Given the description of an element on the screen output the (x, y) to click on. 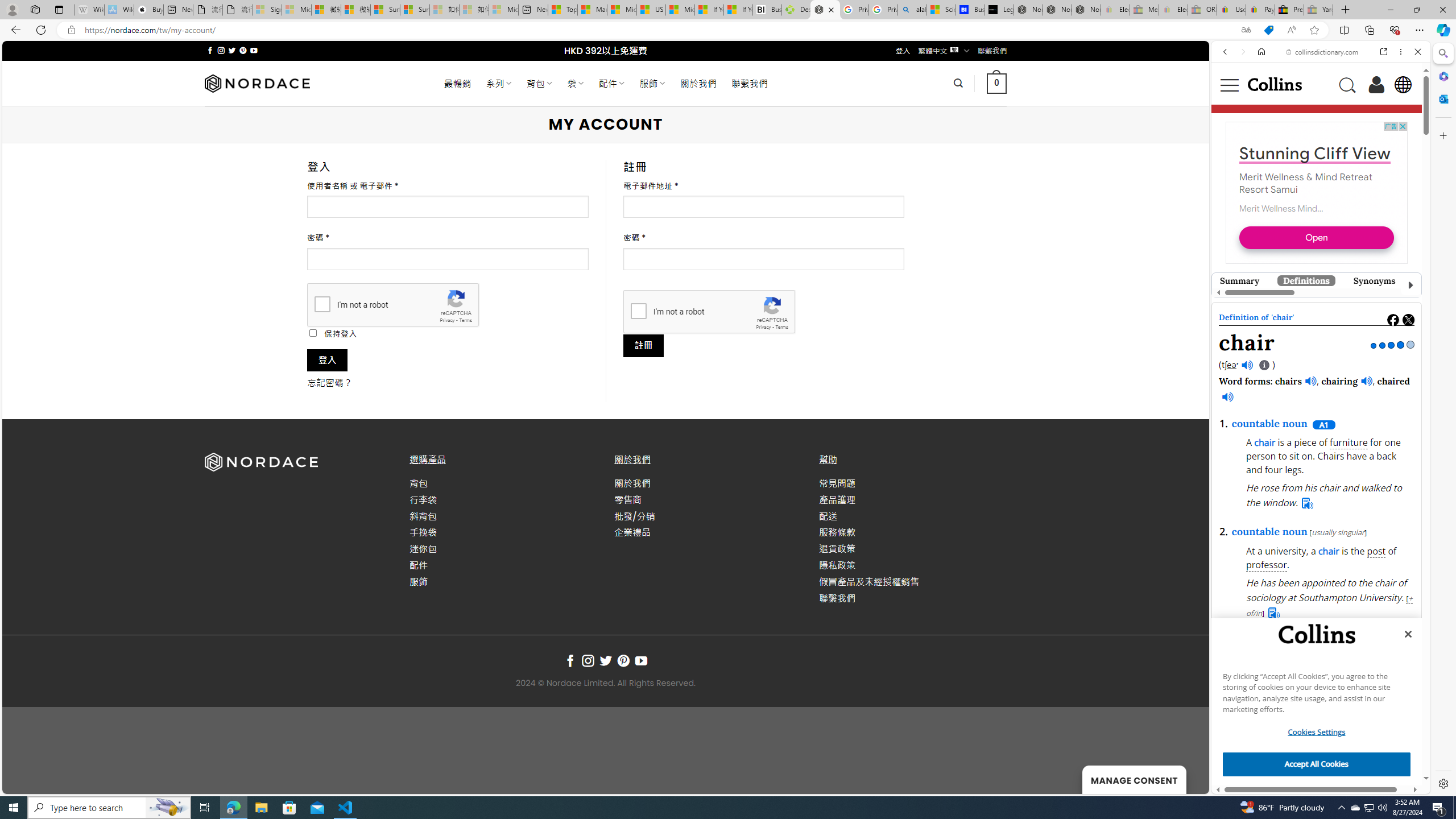
Merit Wellness & Mind Retreat Resort Samui (1306, 182)
Marine life - MSN (591, 9)
chairperson (1288, 350)
Terms (781, 326)
